Given the description of an element on the screen output the (x, y) to click on. 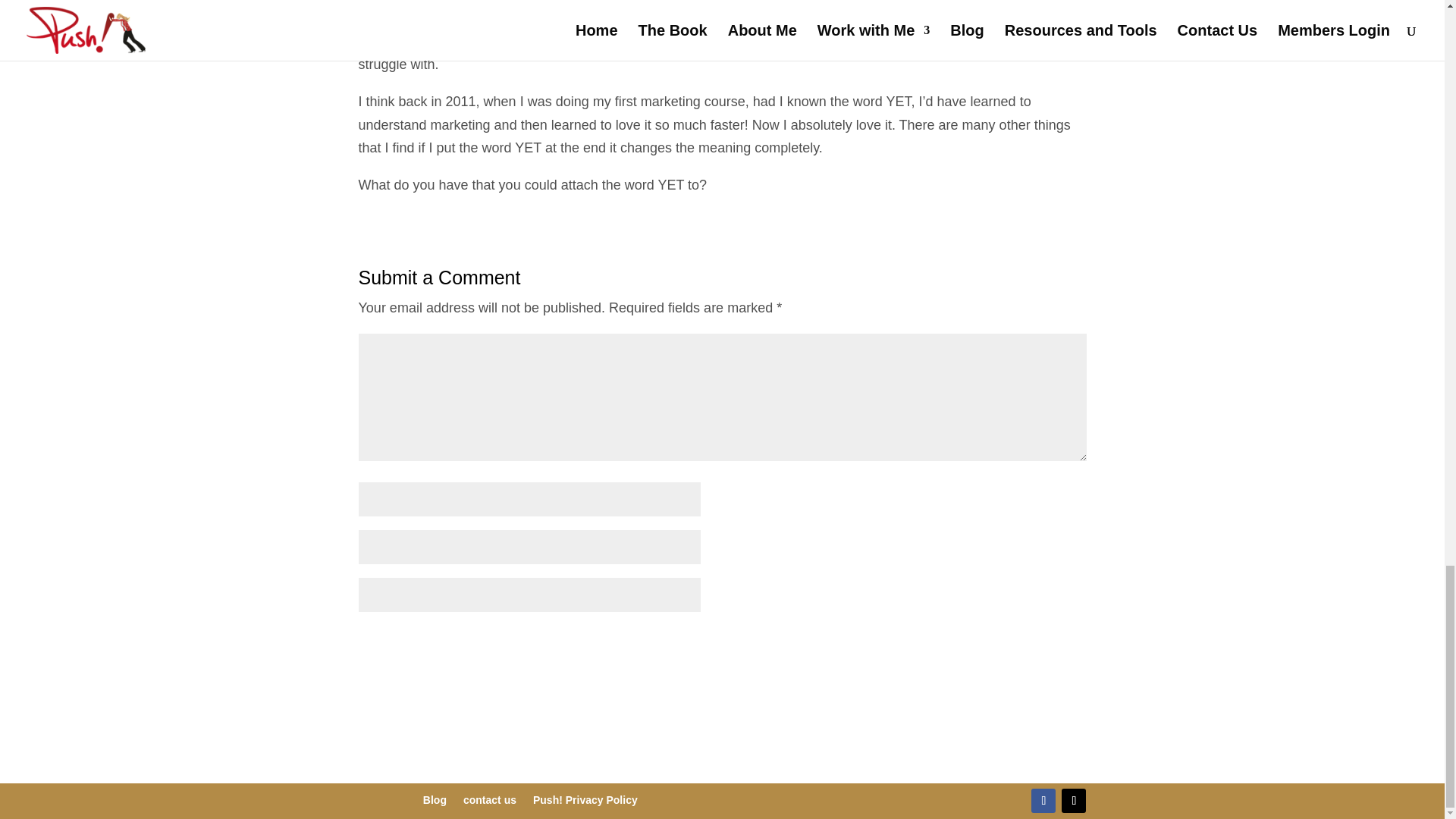
Follow on Facebook (1042, 799)
contact us (489, 801)
Submit Comment (1011, 644)
Blog (434, 801)
Submit Comment (1011, 644)
Follow on X (1073, 799)
Push! Privacy Policy (584, 801)
